Given the description of an element on the screen output the (x, y) to click on. 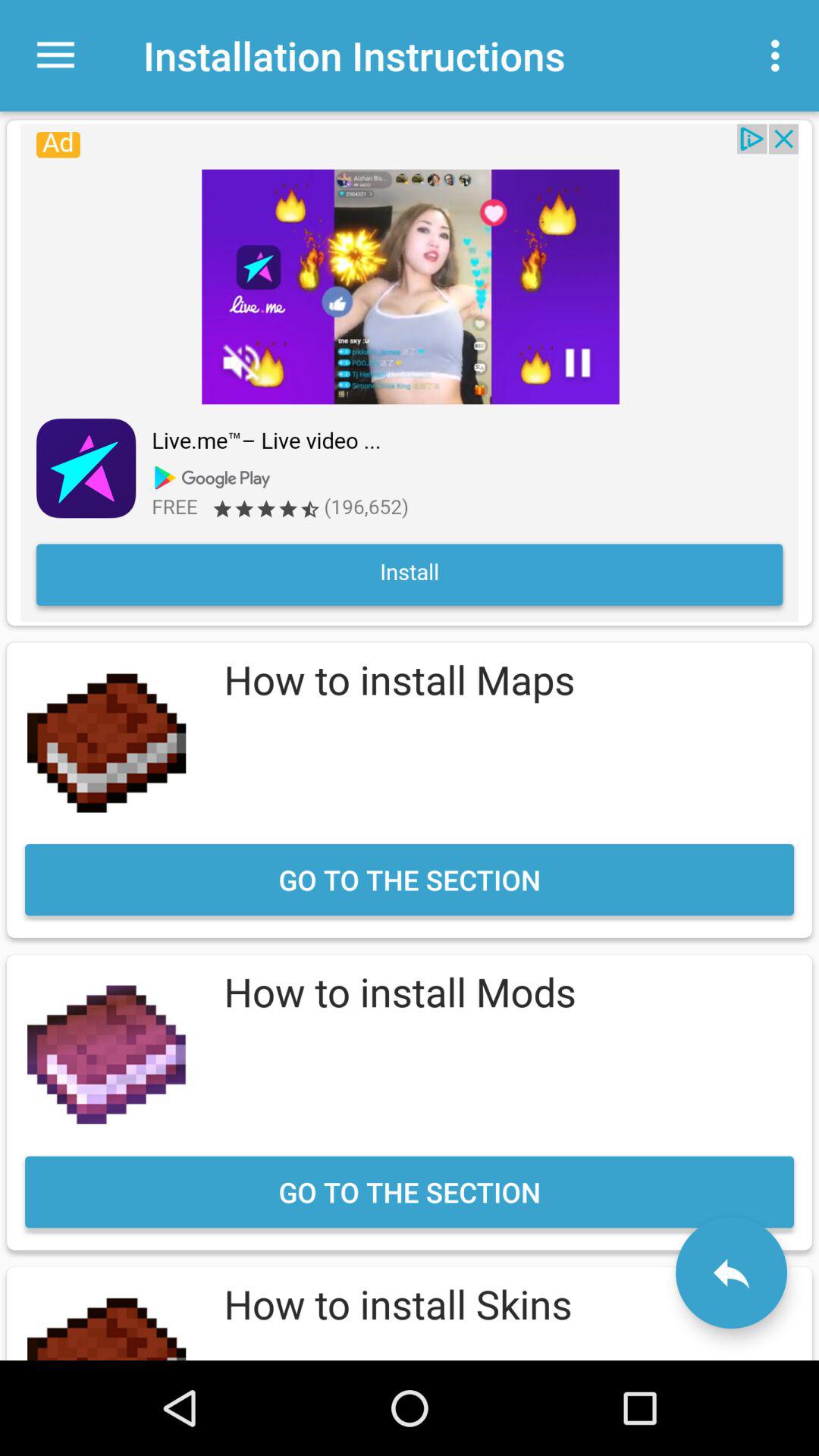
advertisement (409, 372)
